Given the description of an element on the screen output the (x, y) to click on. 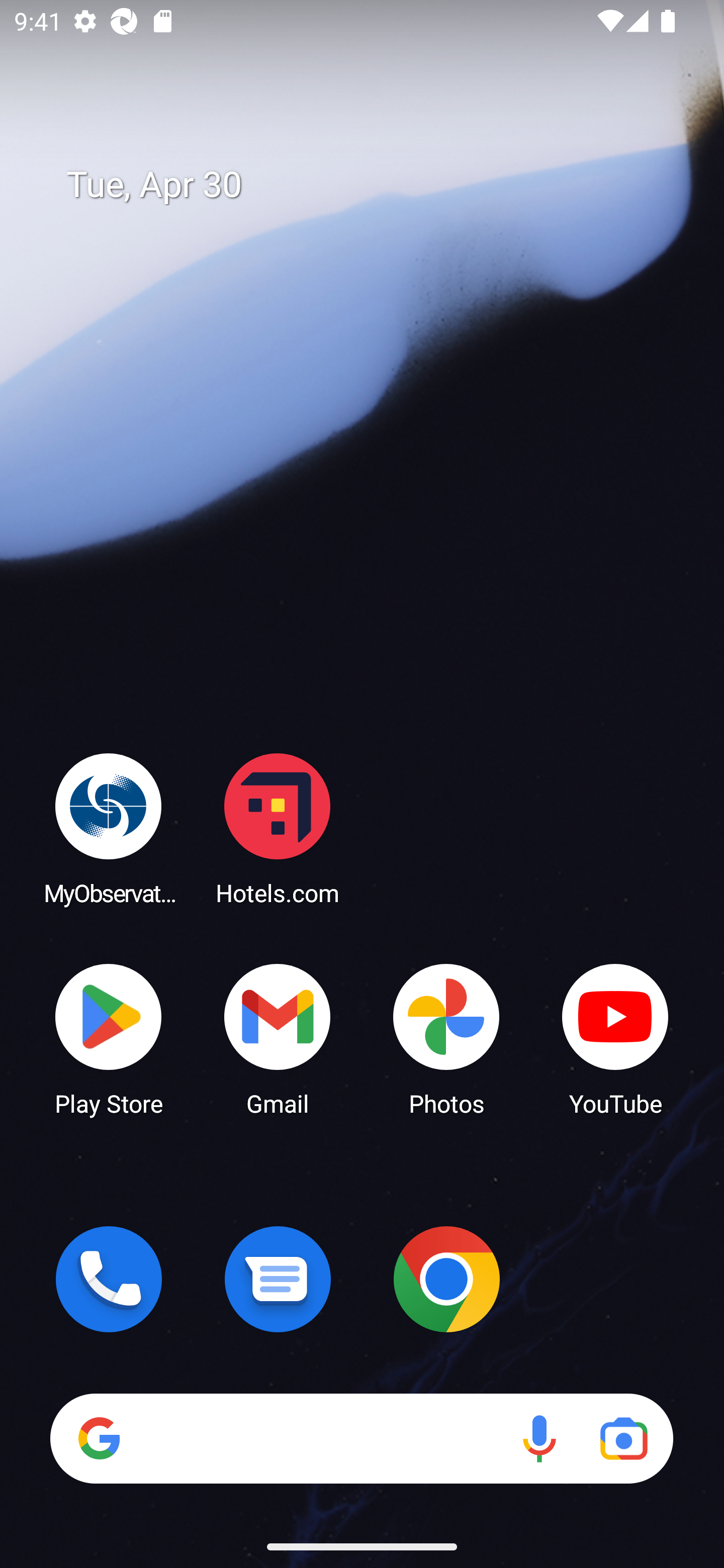
Tue, Apr 30 (375, 184)
MyObservatory (108, 828)
Hotels.com (277, 828)
Play Store (108, 1038)
Gmail (277, 1038)
Photos (445, 1038)
YouTube (615, 1038)
Phone (108, 1279)
Messages (277, 1279)
Chrome (446, 1279)
Voice search (539, 1438)
Google Lens (623, 1438)
